Given the description of an element on the screen output the (x, y) to click on. 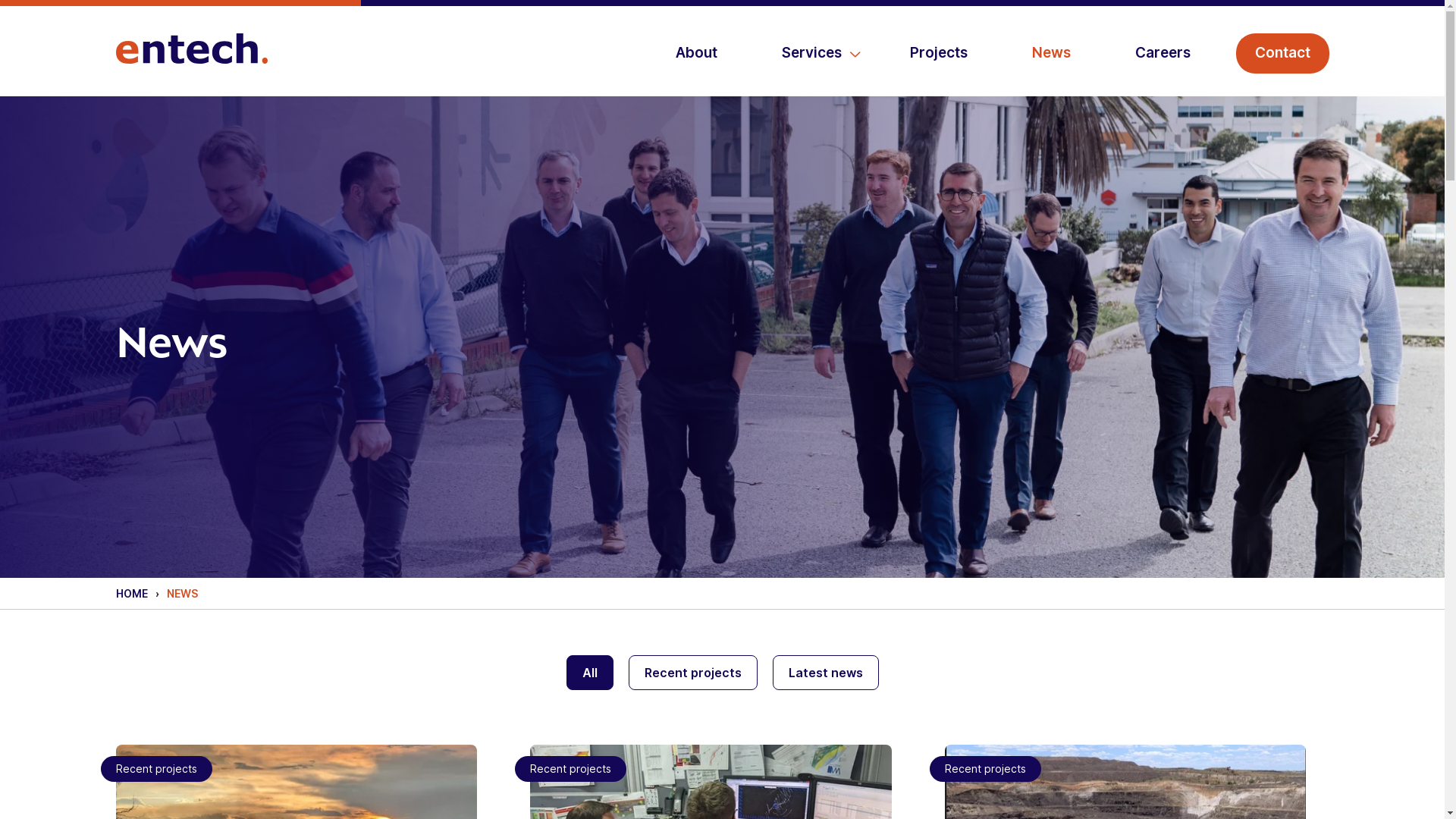
Careers Element type: text (1162, 53)
entech-logo Element type: hover (190, 48)
Latest news Element type: text (824, 672)
About Element type: text (696, 53)
Projects Element type: text (937, 53)
Recent projects Element type: text (691, 672)
Services Element type: text (813, 53)
News Element type: text (1051, 53)
All Element type: text (588, 672)
Show submenu for Services Element type: text (854, 53)
HOME Element type: text (131, 593)
Contact Element type: text (1282, 53)
